Given the description of an element on the screen output the (x, y) to click on. 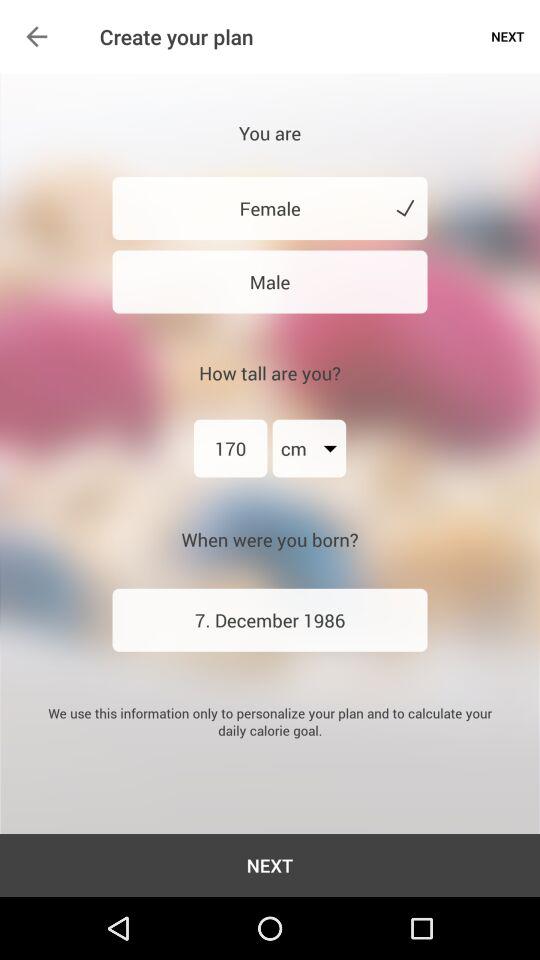
turn on item above when were you item (230, 448)
